Given the description of an element on the screen output the (x, y) to click on. 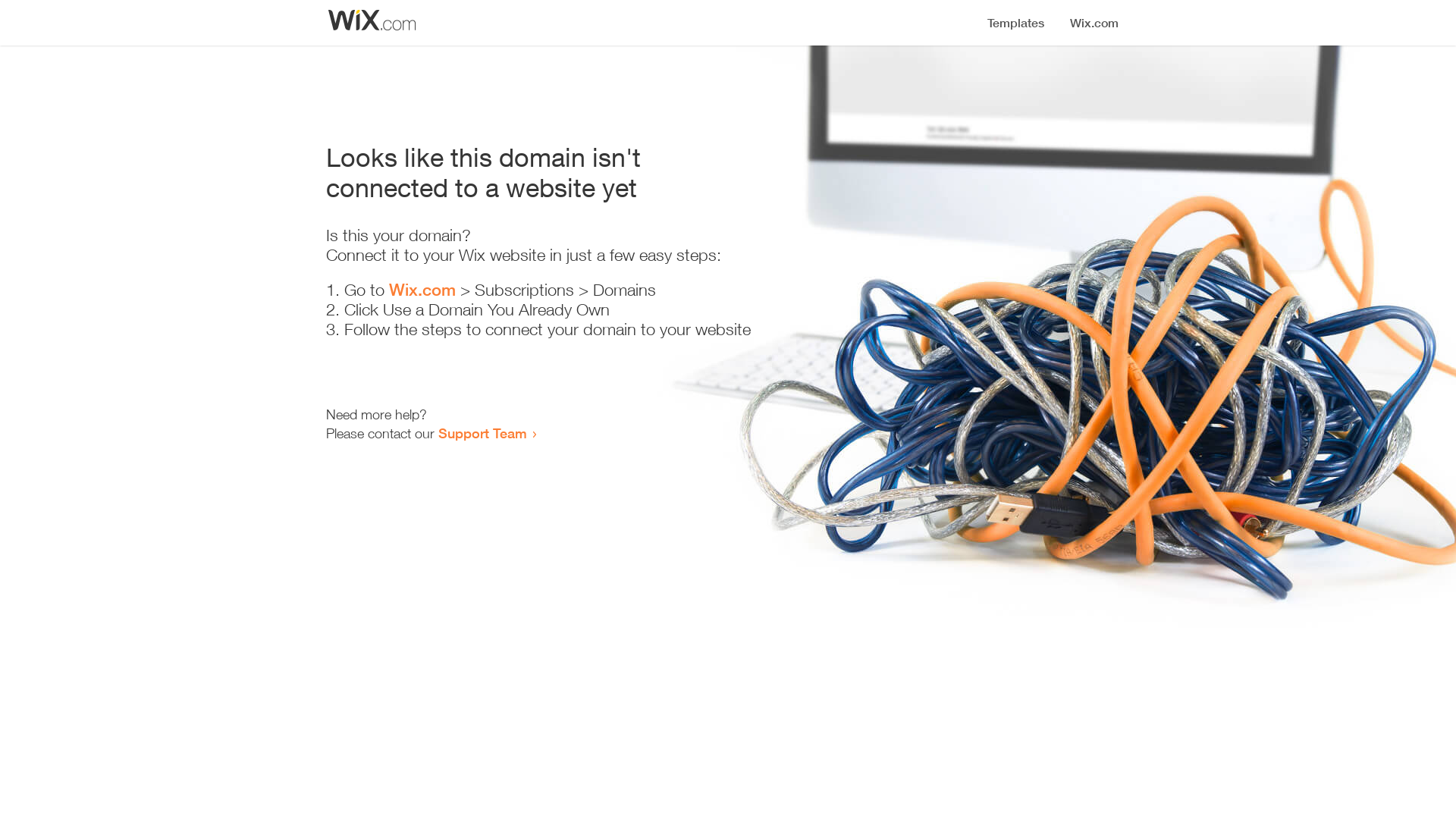
Support Team Element type: text (482, 432)
Wix.com Element type: text (422, 289)
